Given the description of an element on the screen output the (x, y) to click on. 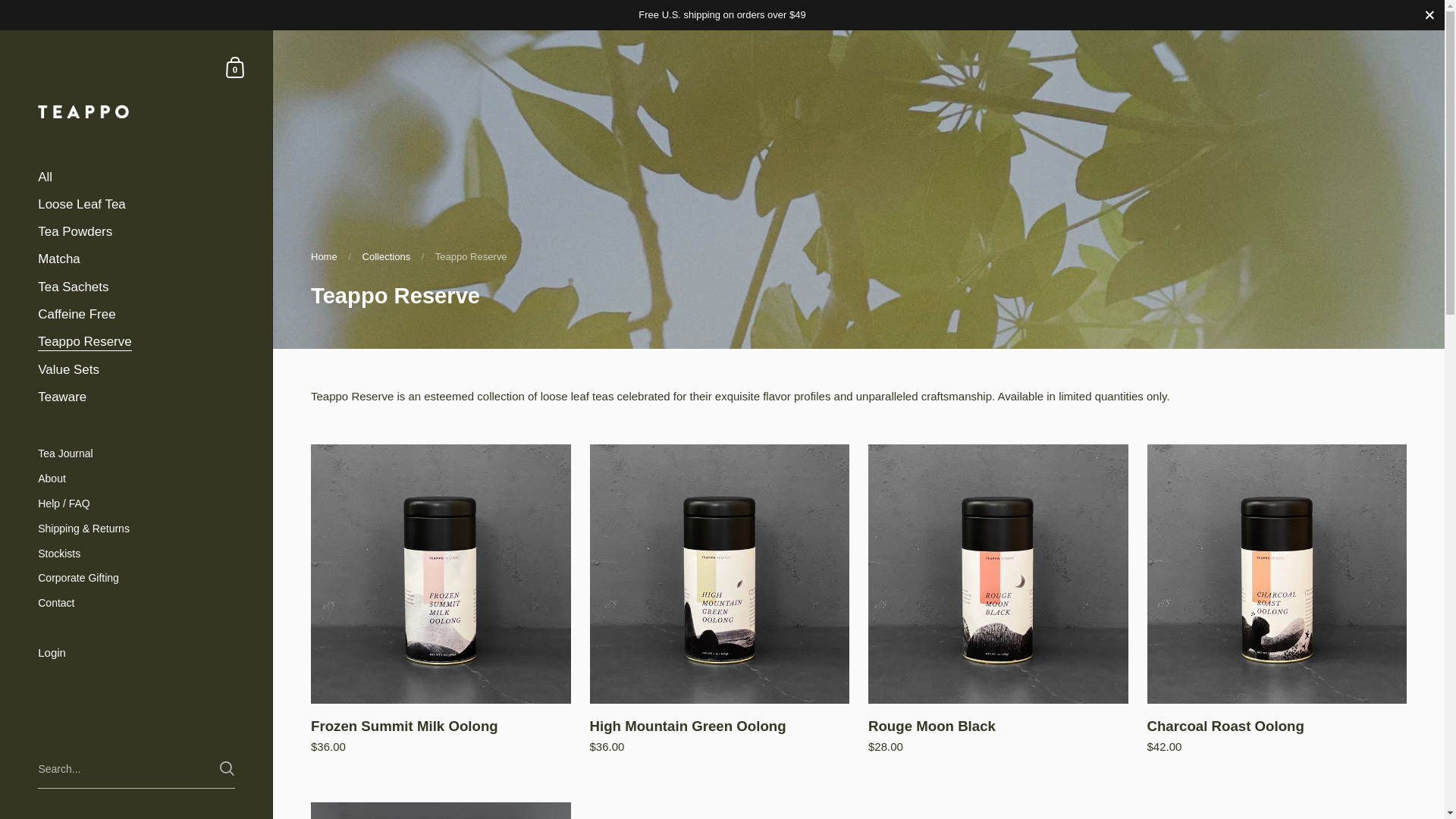
Shopping Cart (235, 66)
Contact (136, 602)
Tea Journal (136, 453)
Teappo Reserve (136, 341)
Home (324, 256)
Tea Powders (136, 231)
Corporate Gifting (136, 577)
Matcha (136, 258)
Teaware (136, 397)
Loose Leaf Tea (136, 204)
